Given the description of an element on the screen output the (x, y) to click on. 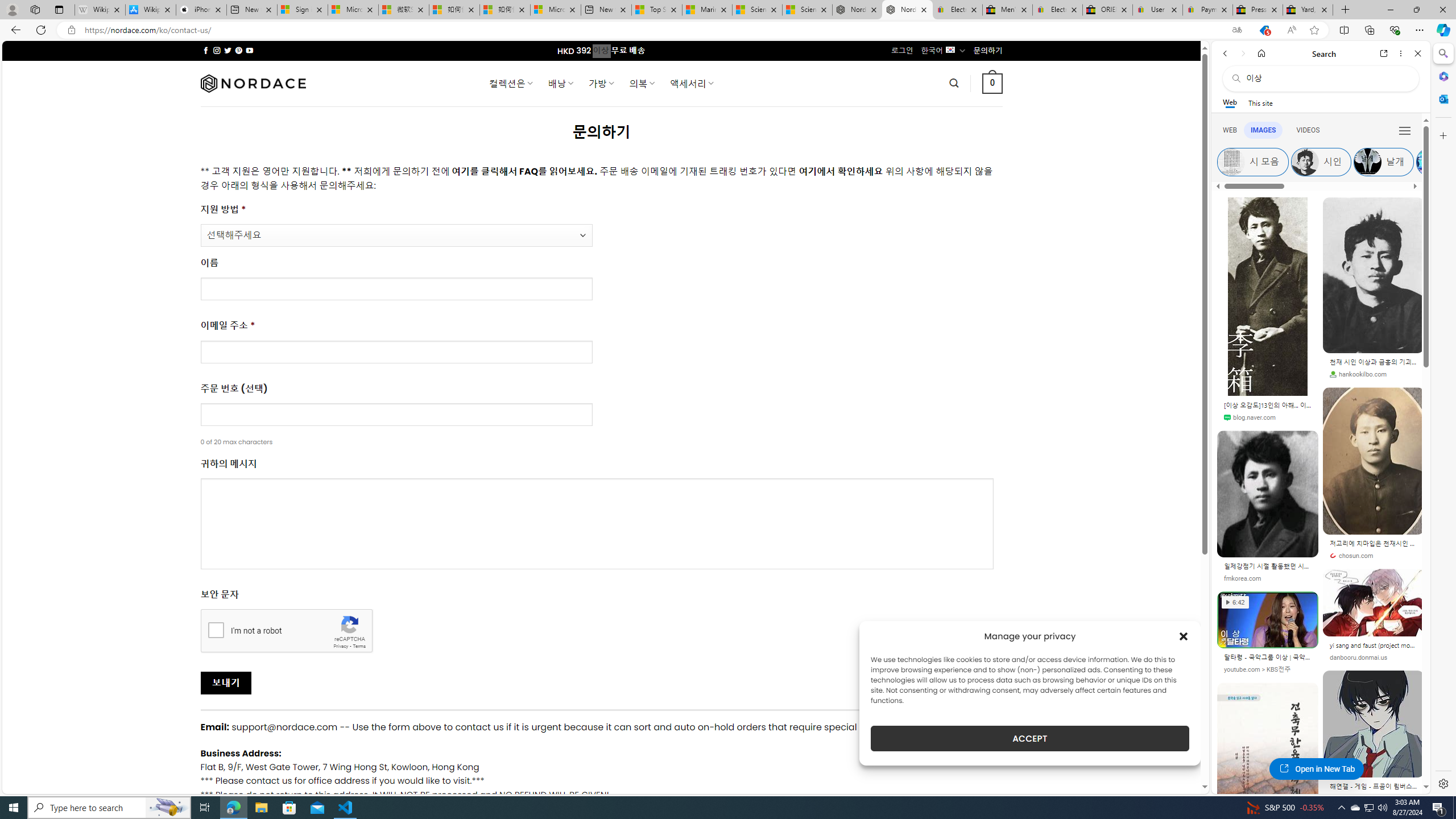
 0  (992, 83)
iPhone - Apple (201, 9)
fmkorea.com (1242, 578)
